Given the description of an element on the screen output the (x, y) to click on. 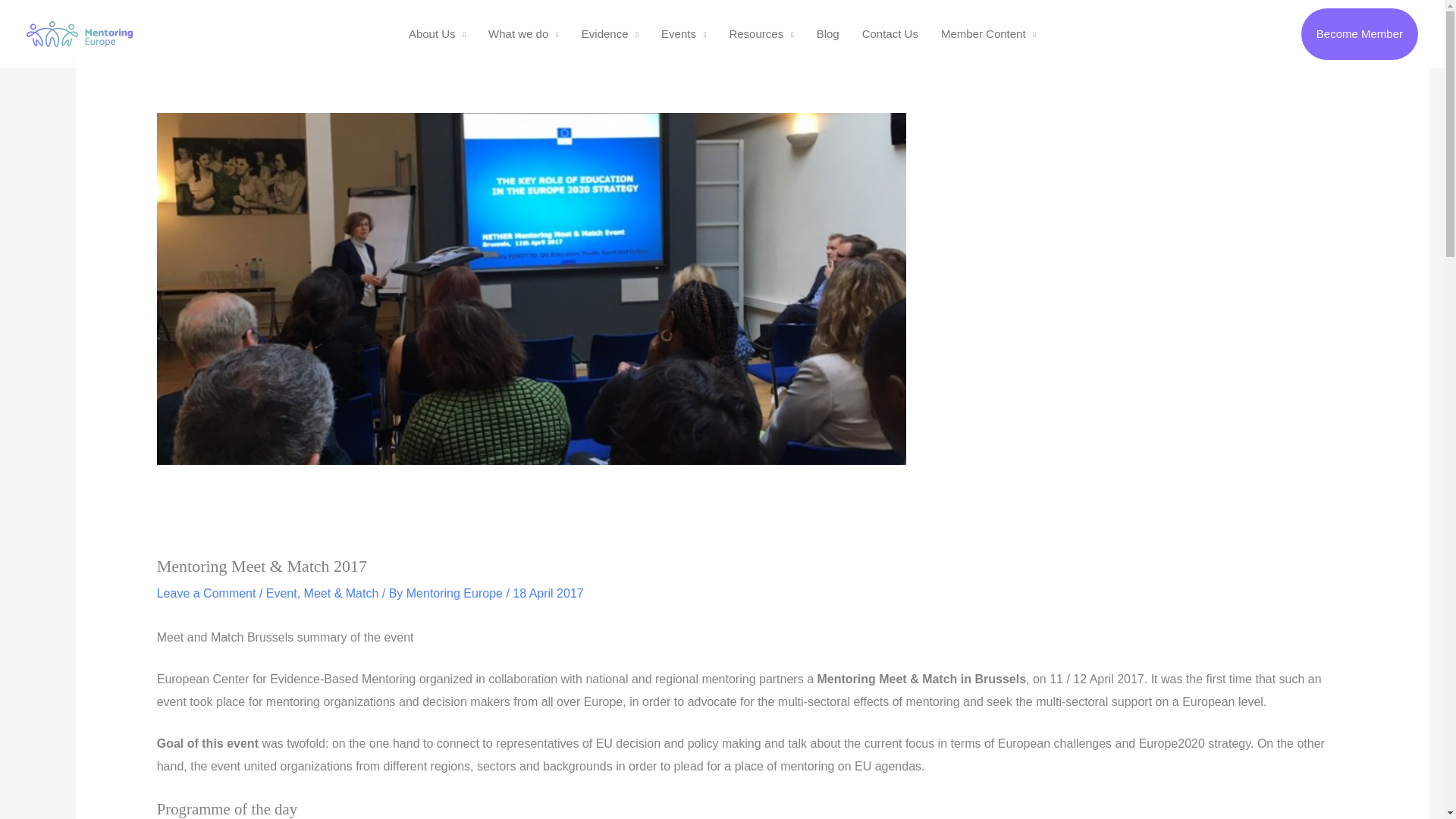
View all posts by Mentoring Europe (456, 593)
Evidence (609, 33)
Member Content (988, 33)
Resources (761, 33)
Events (683, 33)
What we do (523, 33)
Contact Us (890, 33)
About Us (437, 33)
